Given the description of an element on the screen output the (x, y) to click on. 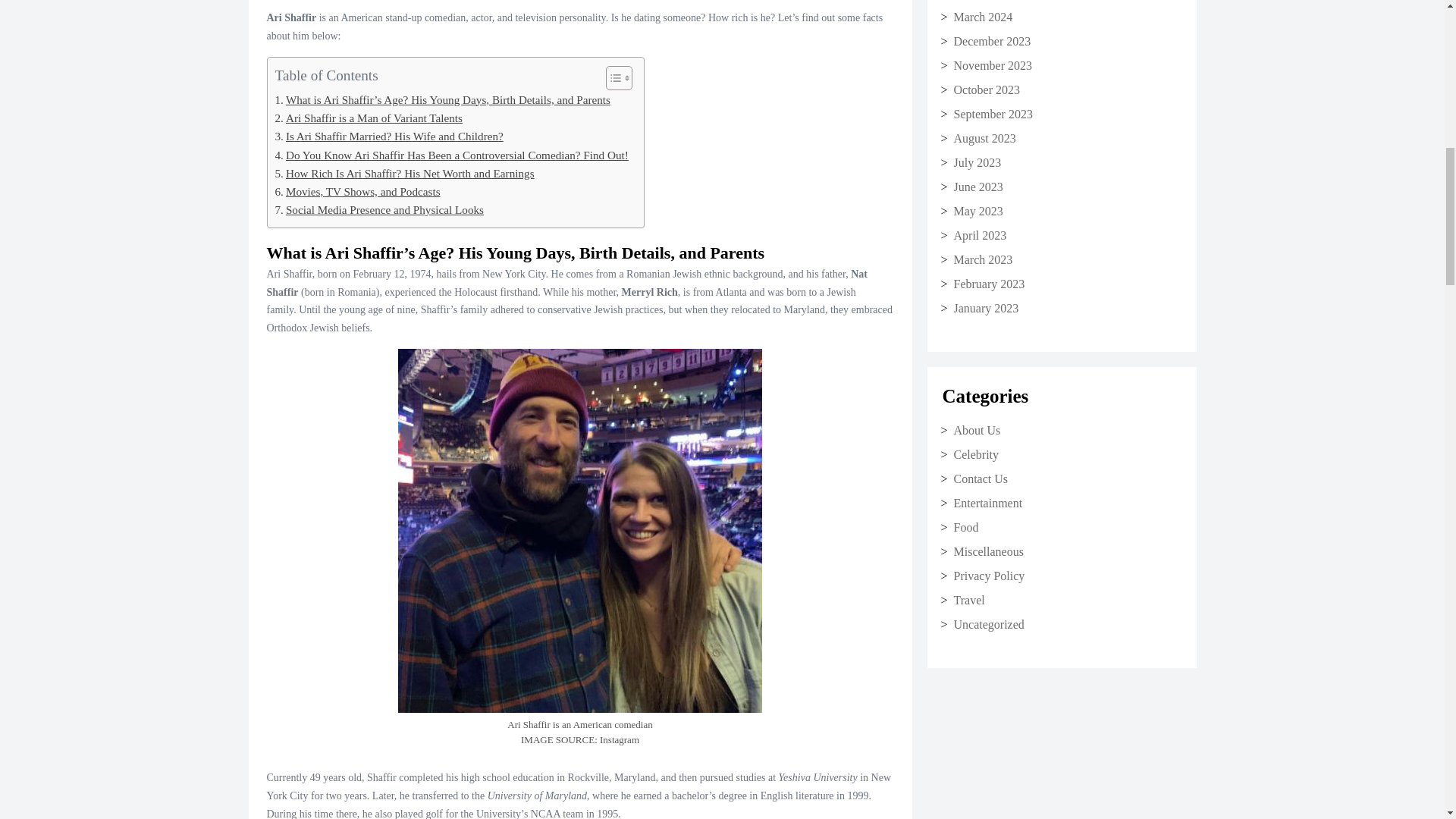
Ari Shaffir is a Man of Variant Talents (368, 124)
Social Media Presence and Physical Looks (379, 216)
Movies, TV Shows, and Podcasts (357, 198)
How Rich Is Ari Shaffir? His Net Worth and Earnings (404, 179)
Is Ari Shaffir Married? His Wife and Children? (388, 142)
Ari Shaffir is a Man of Variant Talents (368, 124)
Movies, TV Shows, and Podcasts (357, 198)
How Rich Is Ari Shaffir? His Net Worth and Earnings (404, 179)
Social Media Presence and Physical Looks (379, 216)
